Given the description of an element on the screen output the (x, y) to click on. 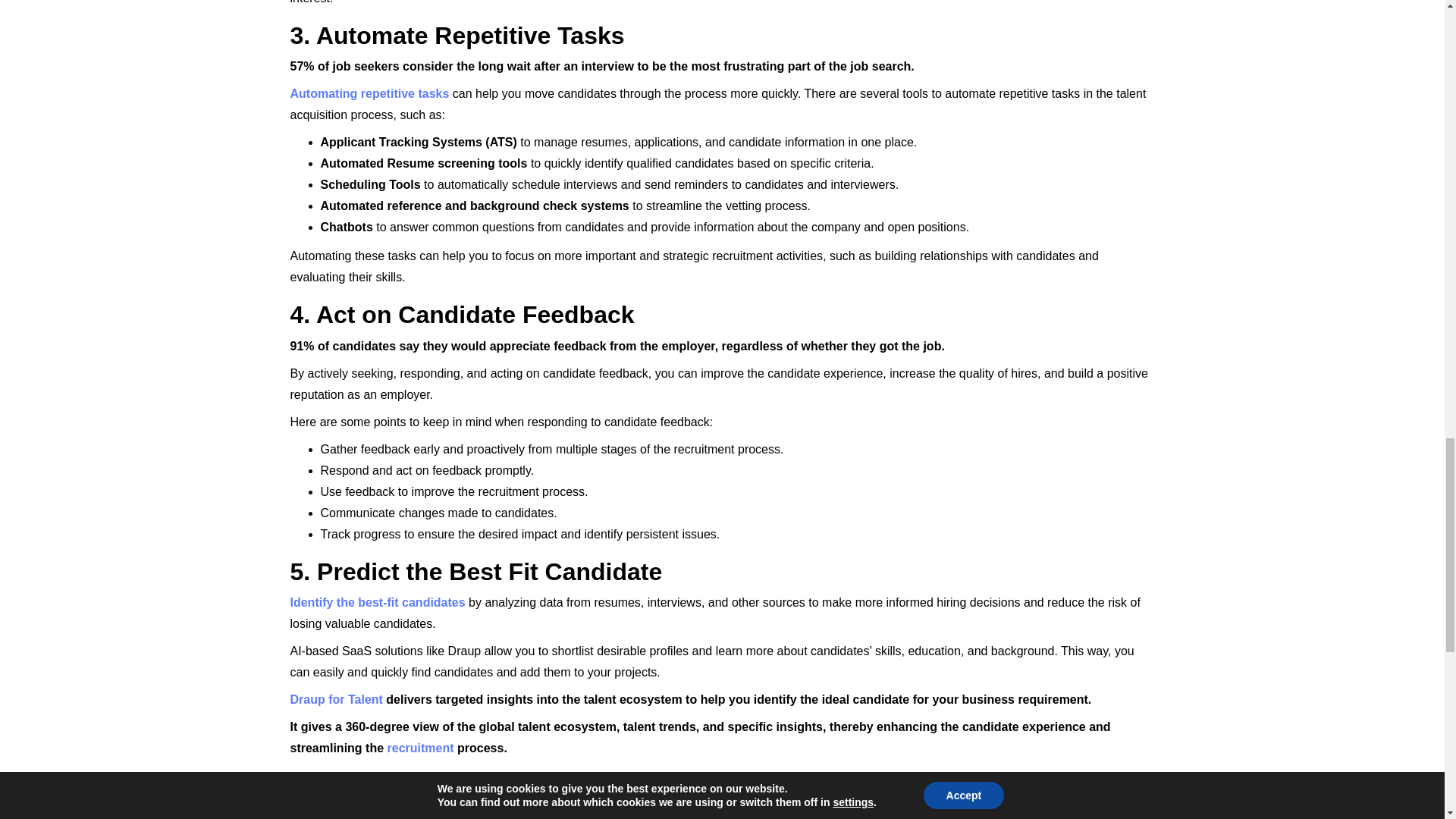
Automating repetitive tasks (368, 92)
Draup for Talent (335, 698)
Identify the best-fit candidates (376, 602)
recruitment (420, 748)
